Given the description of an element on the screen output the (x, y) to click on. 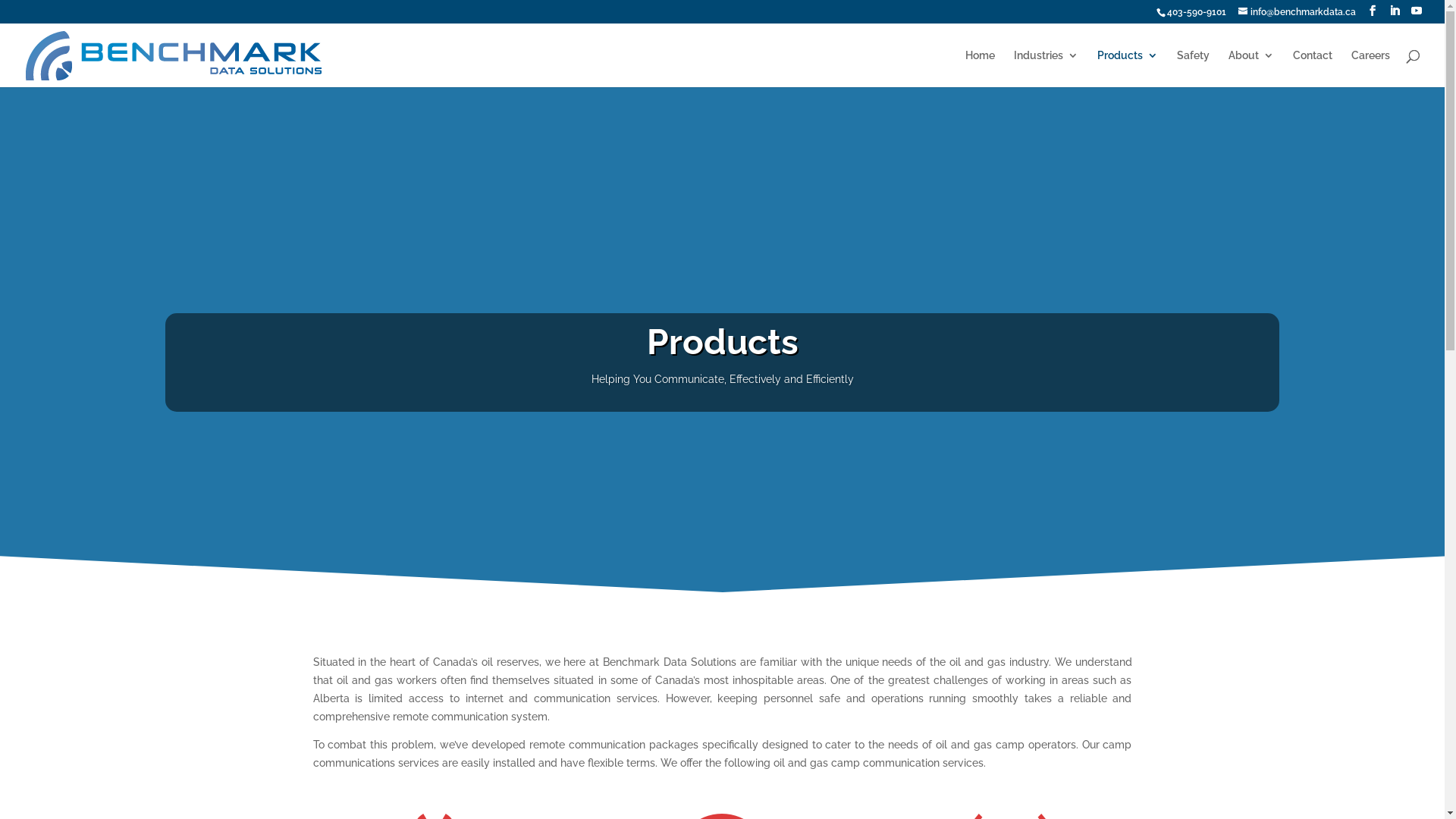
info@benchmarkdata.ca Element type: text (1296, 11)
Careers Element type: text (1370, 68)
Safety Element type: text (1192, 68)
Products Element type: text (1127, 68)
Industries Element type: text (1045, 68)
Contact Element type: text (1312, 68)
About Element type: text (1251, 68)
403-590-9101 Element type: text (1196, 11)
Home Element type: text (979, 68)
